Given the description of an element on the screen output the (x, y) to click on. 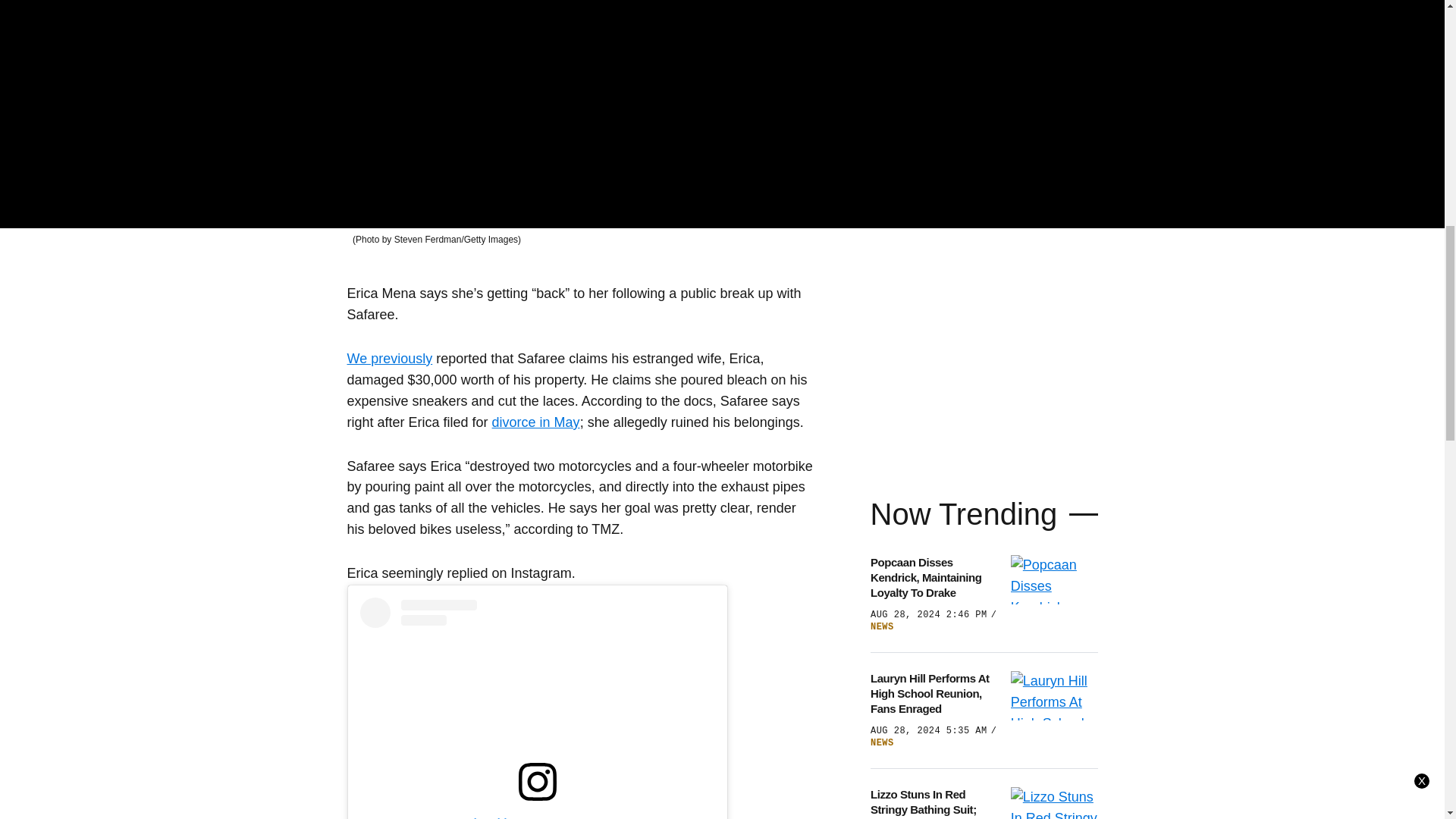
View this post on Instagram (536, 708)
divorce in May (535, 421)
Lauryn Hill Performs At High School Reunion, Fans Enraged (935, 693)
We previously (389, 358)
Popcaan Disses Kendrick, Maintaining Loyalty To Drake (935, 577)
